Given the description of an element on the screen output the (x, y) to click on. 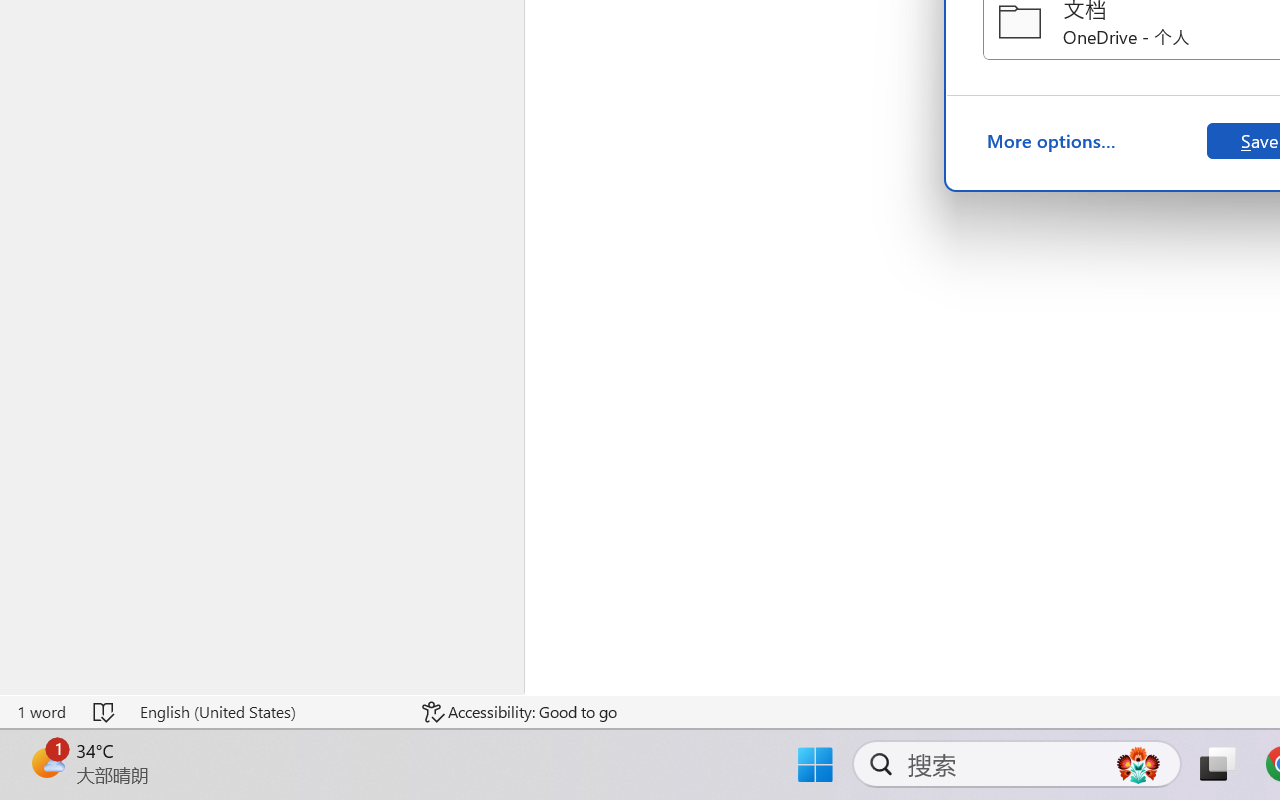
AutomationID: DynamicSearchBoxGleamImage (1138, 764)
Word Count 1 word (41, 712)
Spelling and Grammar Check No Errors (105, 712)
Class: Image (46, 743)
AutomationID: BadgeAnchorLargeTicker (46, 762)
Accessibility Checker Accessibility: Good to go (519, 712)
Language English (United States) (267, 712)
